Given the description of an element on the screen output the (x, y) to click on. 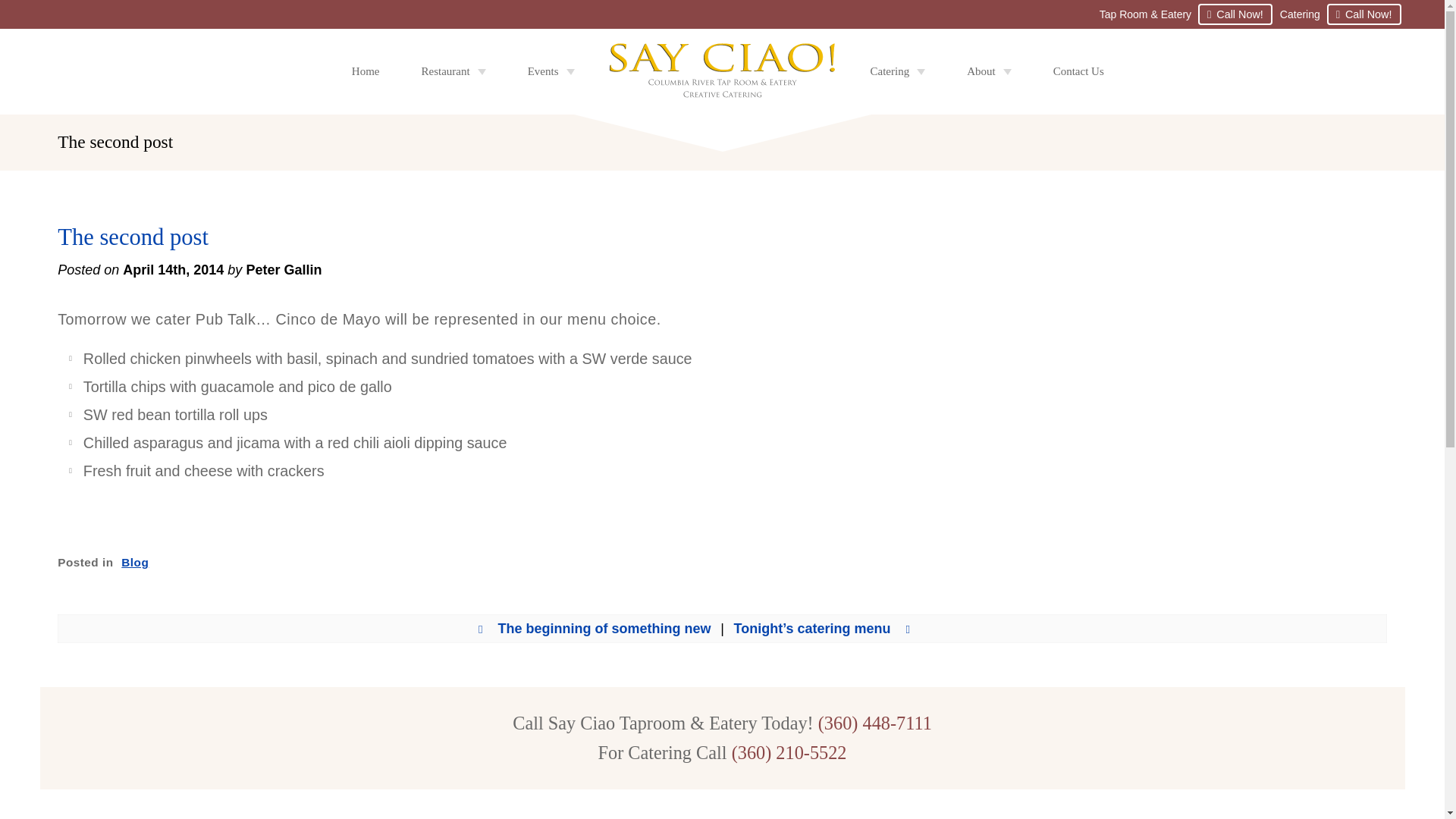
Catering (896, 71)
Call Now! (1235, 14)
Events (551, 71)
Call Now! (1363, 14)
Blog (134, 562)
Restaurant (452, 71)
Permanent link: The second post (133, 237)
The second post (133, 237)
Home (365, 71)
The beginning of something new (595, 628)
Contact Us (1077, 71)
About (988, 71)
